Given the description of an element on the screen output the (x, y) to click on. 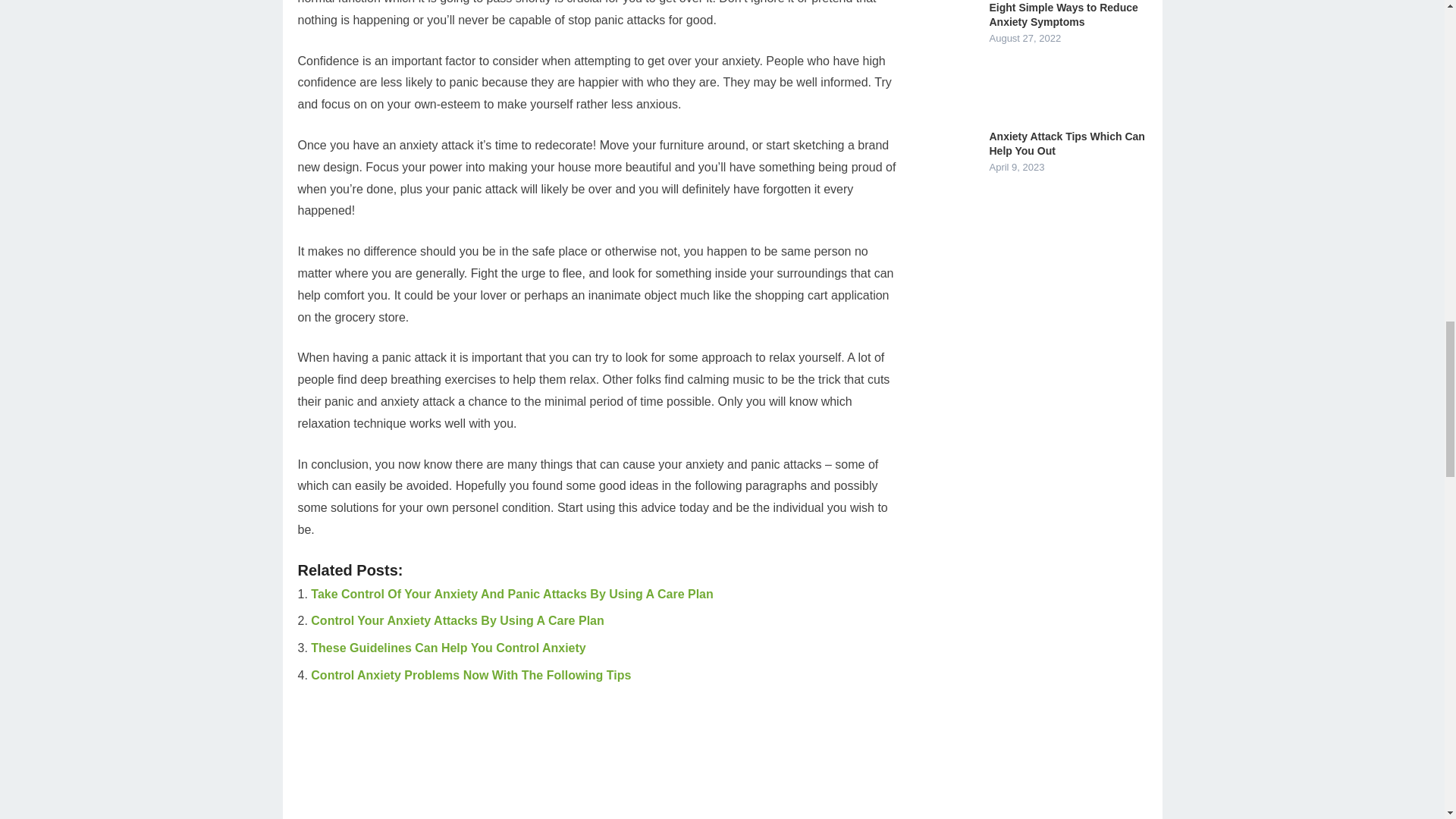
Control Your Anxiety Attacks By Using A Care Plan (457, 620)
Control Anxiety Problems Now With The Following Tips (470, 675)
These Guidelines Can Help You Control Anxiety (448, 647)
Control Your Anxiety Attacks By Using A Care Plan (457, 620)
These Guidelines Can Help You Control Anxiety (448, 647)
Control Anxiety Problems Now With The Following Tips (470, 675)
